Given the description of an element on the screen output the (x, y) to click on. 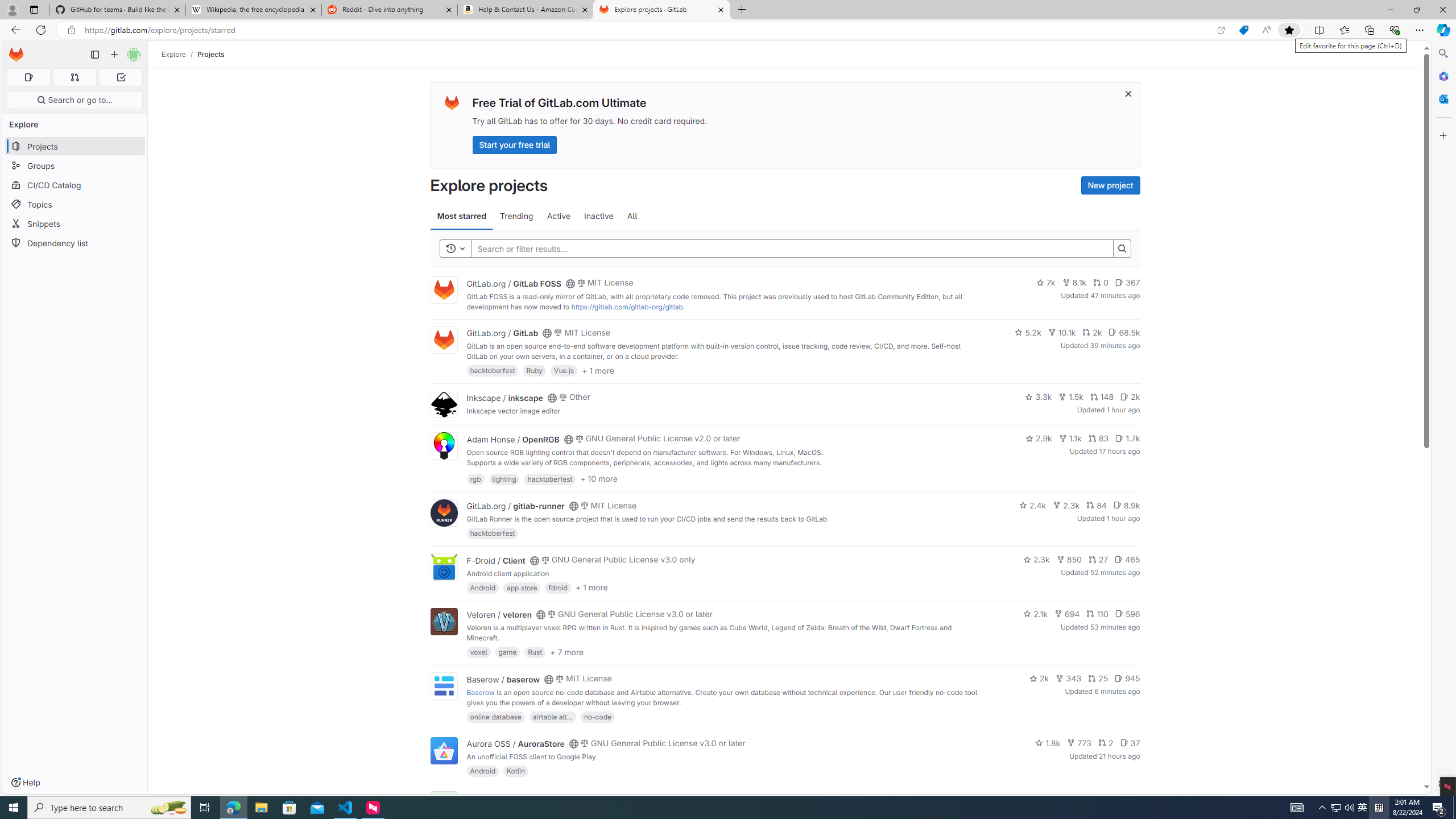
2.3k (1035, 559)
Most starred (461, 216)
10.1k (1061, 331)
343 (1068, 678)
27 (1097, 559)
Class: s16 (568, 798)
2.9k (1038, 438)
F-Droid / Client (495, 560)
2.1k (1035, 613)
3.3k (1038, 396)
Explore (173, 53)
